Given the description of an element on the screen output the (x, y) to click on. 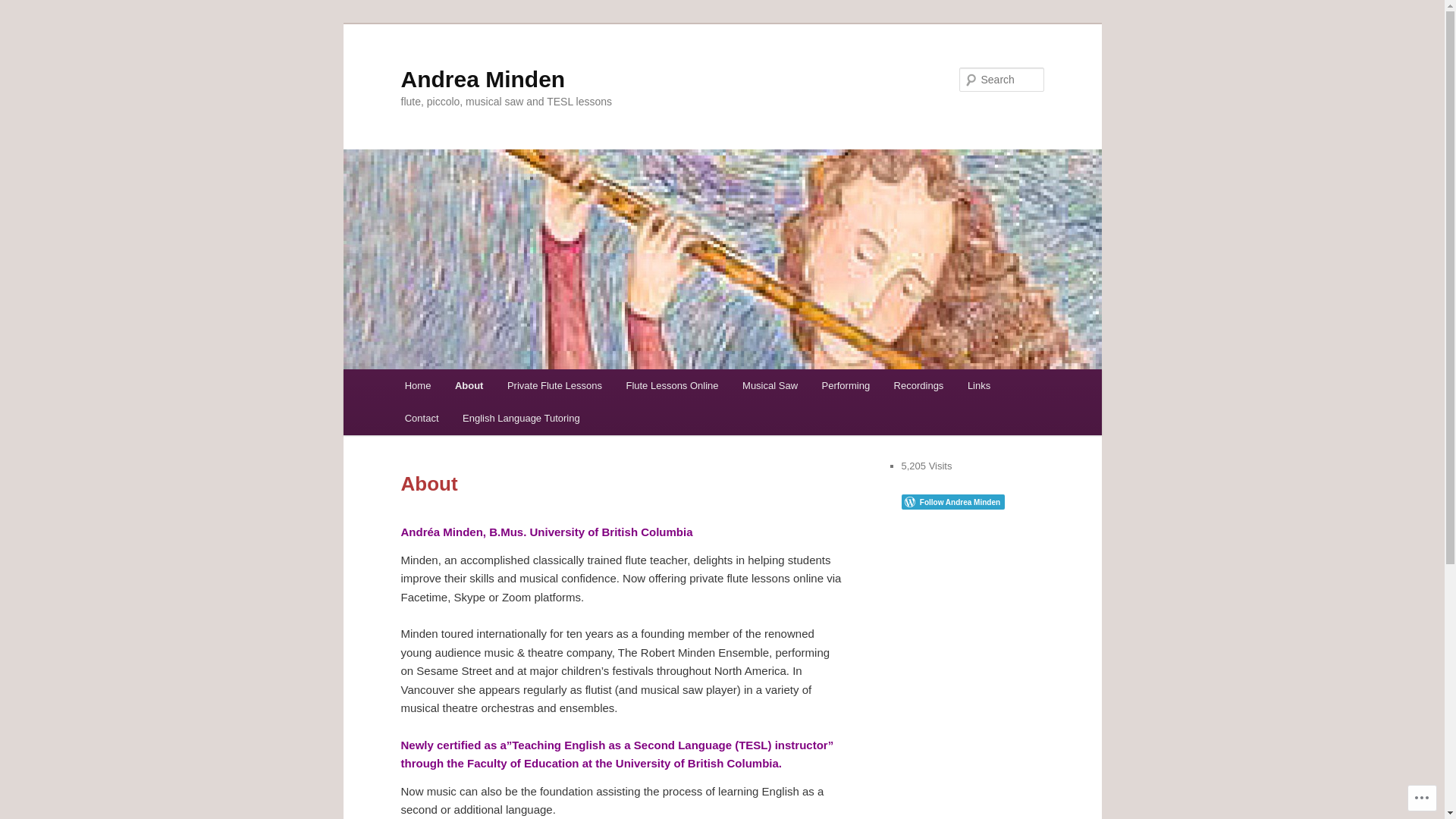
Performing Element type: text (845, 385)
Flute Lessons Online Element type: text (672, 385)
Contact Element type: text (421, 417)
Private Flute Lessons Element type: text (554, 385)
English Language Tutoring Element type: text (520, 417)
Search Element type: text (24, 8)
Home Element type: text (417, 385)
Skip to primary content Element type: text (22, 22)
About Element type: text (468, 385)
Musical Saw Element type: text (769, 385)
Recordings Element type: text (918, 385)
Andrea Minden Element type: text (482, 78)
Follow Button Element type: hover (971, 501)
Links Element type: text (978, 385)
